Given the description of an element on the screen output the (x, y) to click on. 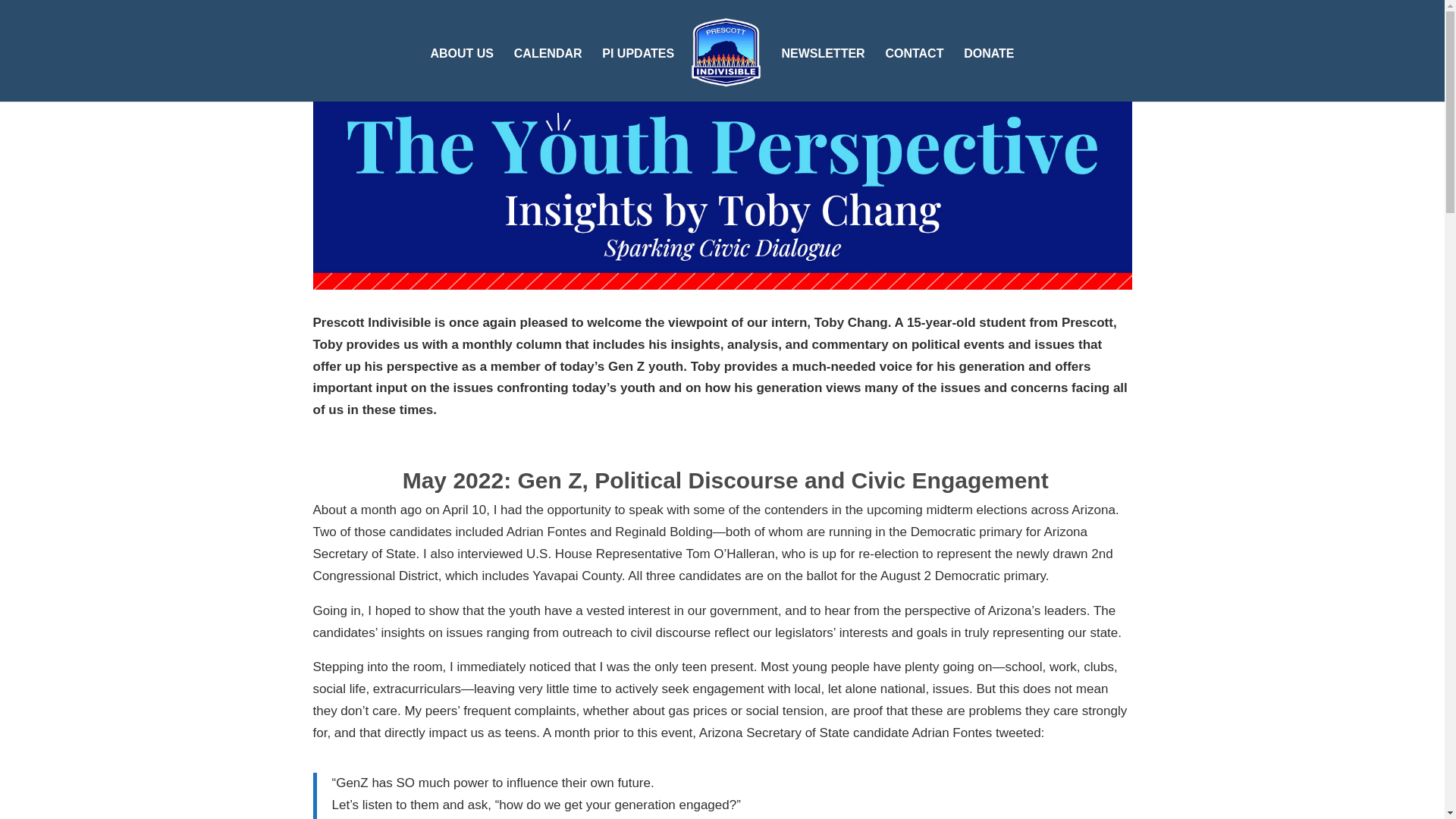
DONATE (988, 74)
CONTACT (914, 74)
PI UPDATES (638, 74)
ABOUT US (461, 74)
NEWSLETTER (822, 74)
CALENDAR (547, 74)
